Given the description of an element on the screen output the (x, y) to click on. 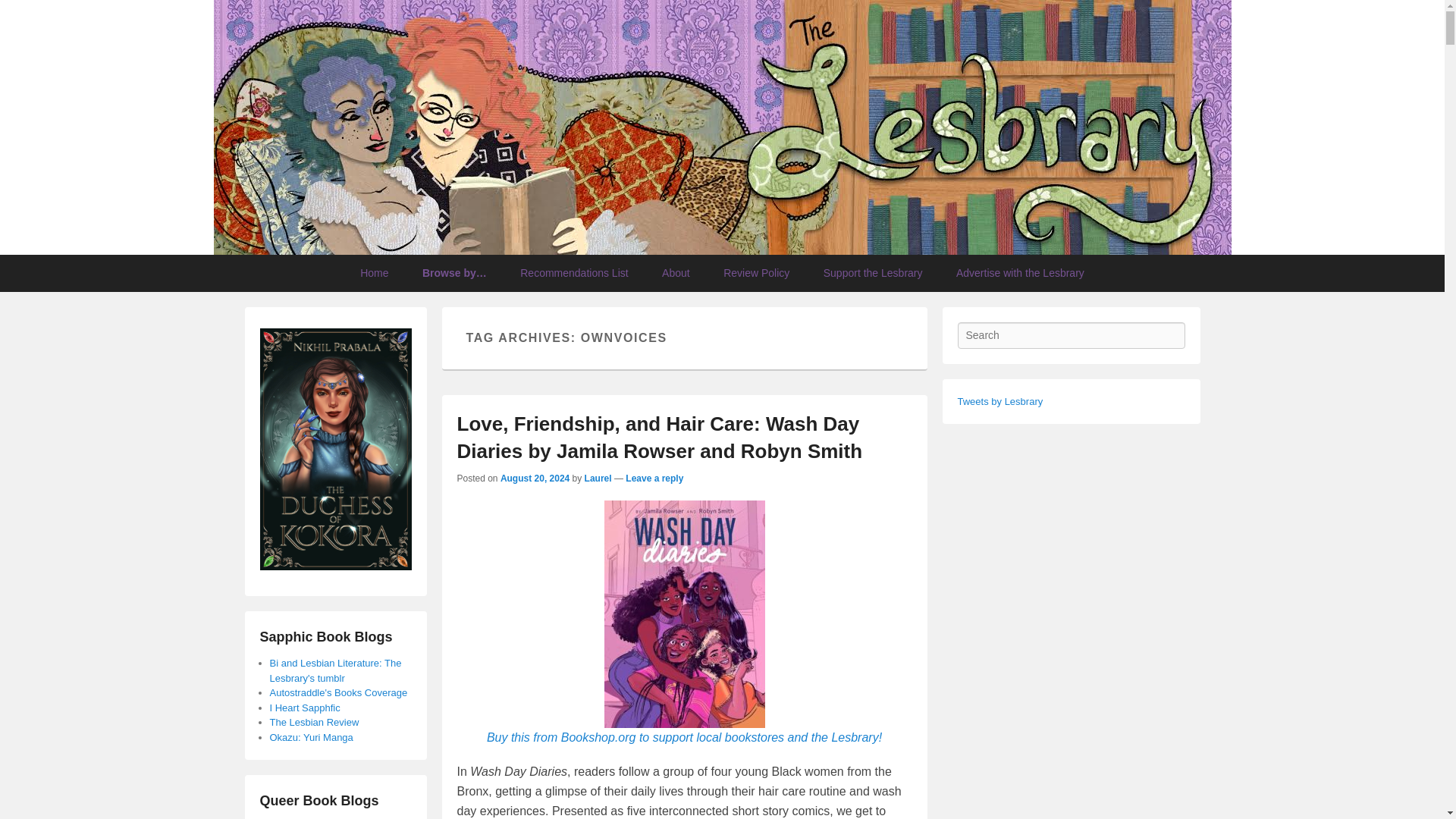
Home (374, 272)
3:30 am (534, 478)
View all posts by Laurel (598, 478)
